Given the description of an element on the screen output the (x, y) to click on. 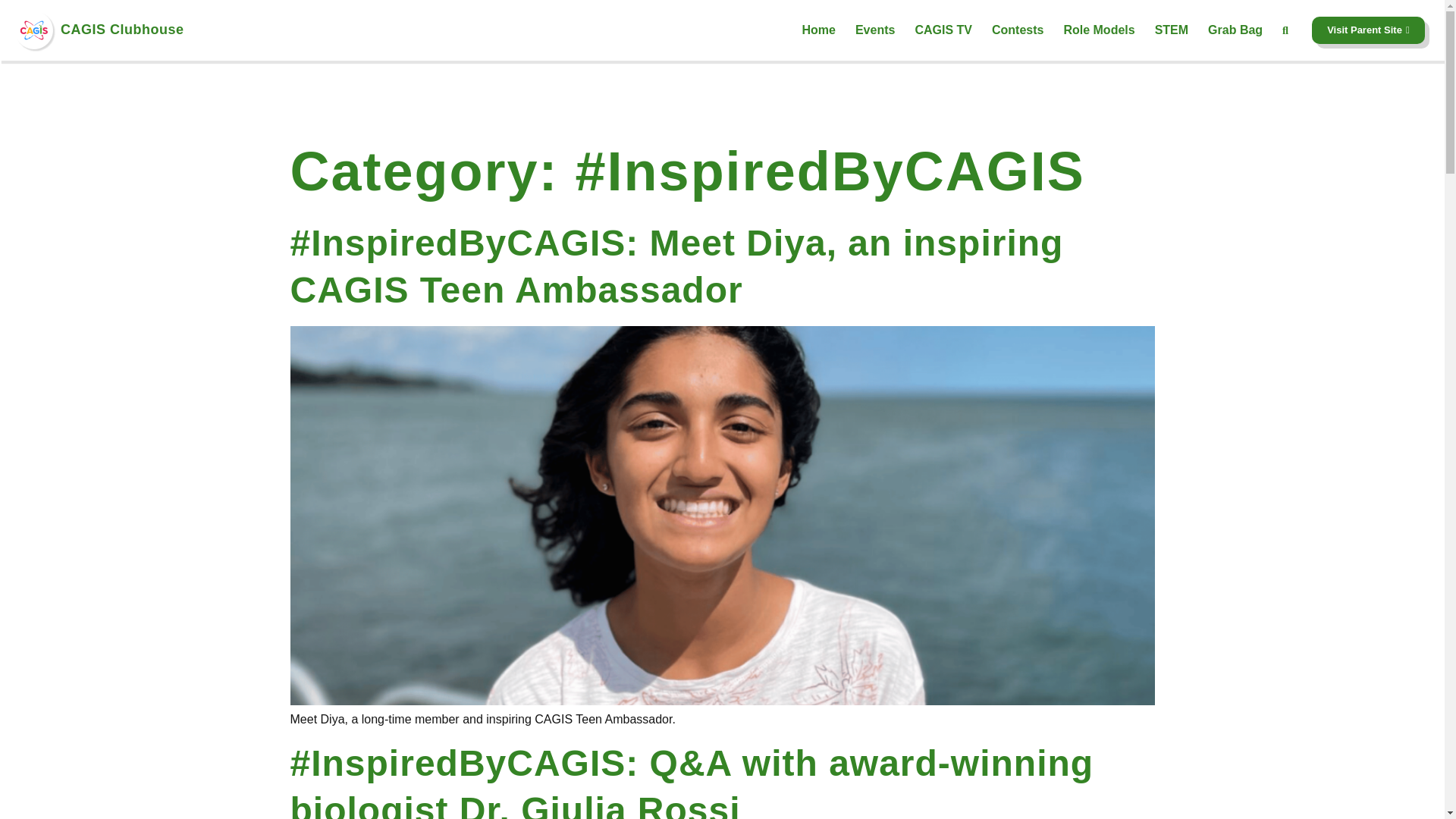
Grab Bag (1235, 30)
CAGIS Clubhouse (122, 29)
CAGIS TV (943, 30)
STEM (1171, 30)
Role Models (1098, 30)
Events (874, 30)
Contests (1017, 30)
Home (817, 30)
Visit Parent Site (1368, 30)
